Given the description of an element on the screen output the (x, y) to click on. 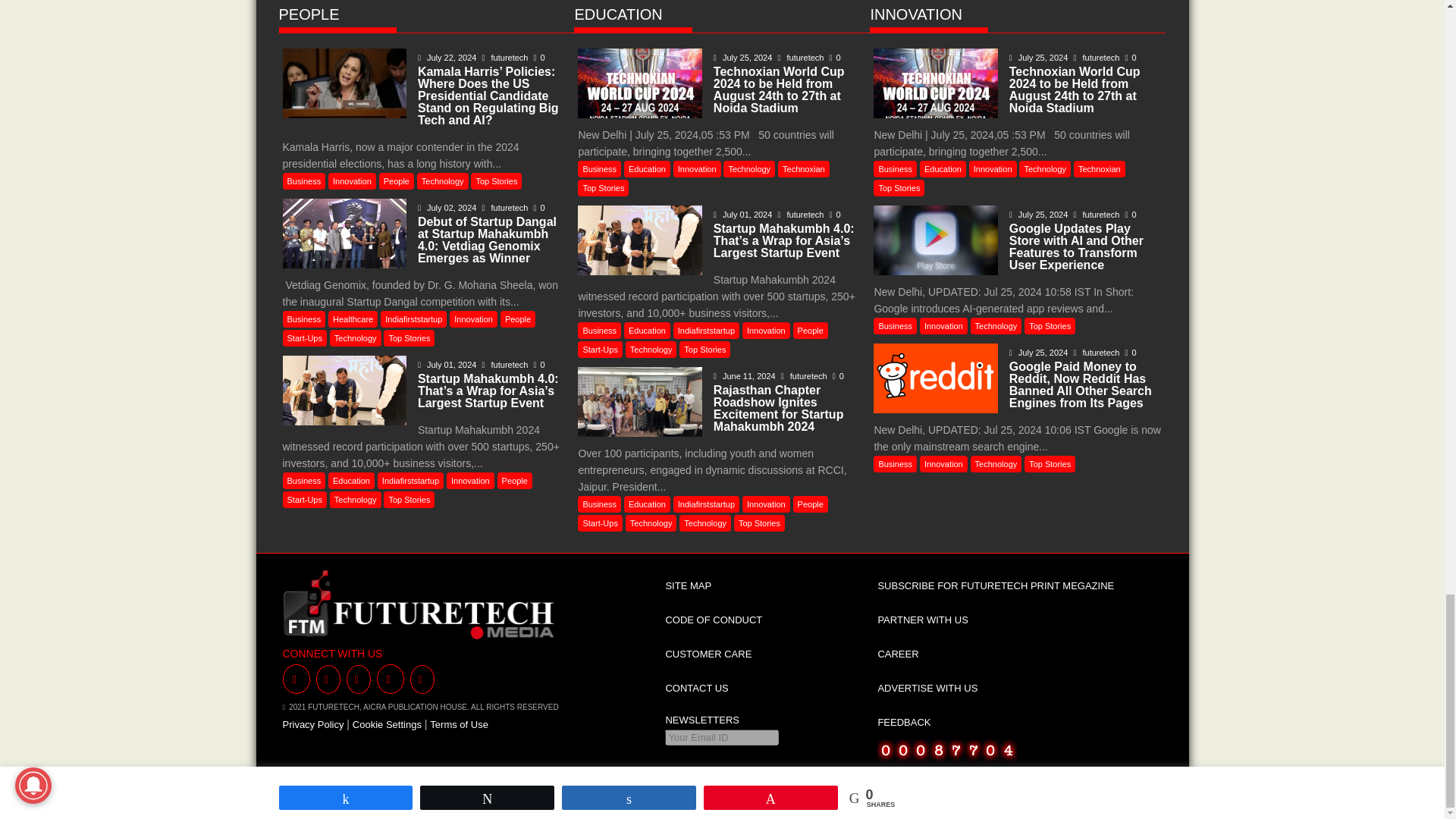
Subscribe (692, 777)
